Given the description of an element on the screen output the (x, y) to click on. 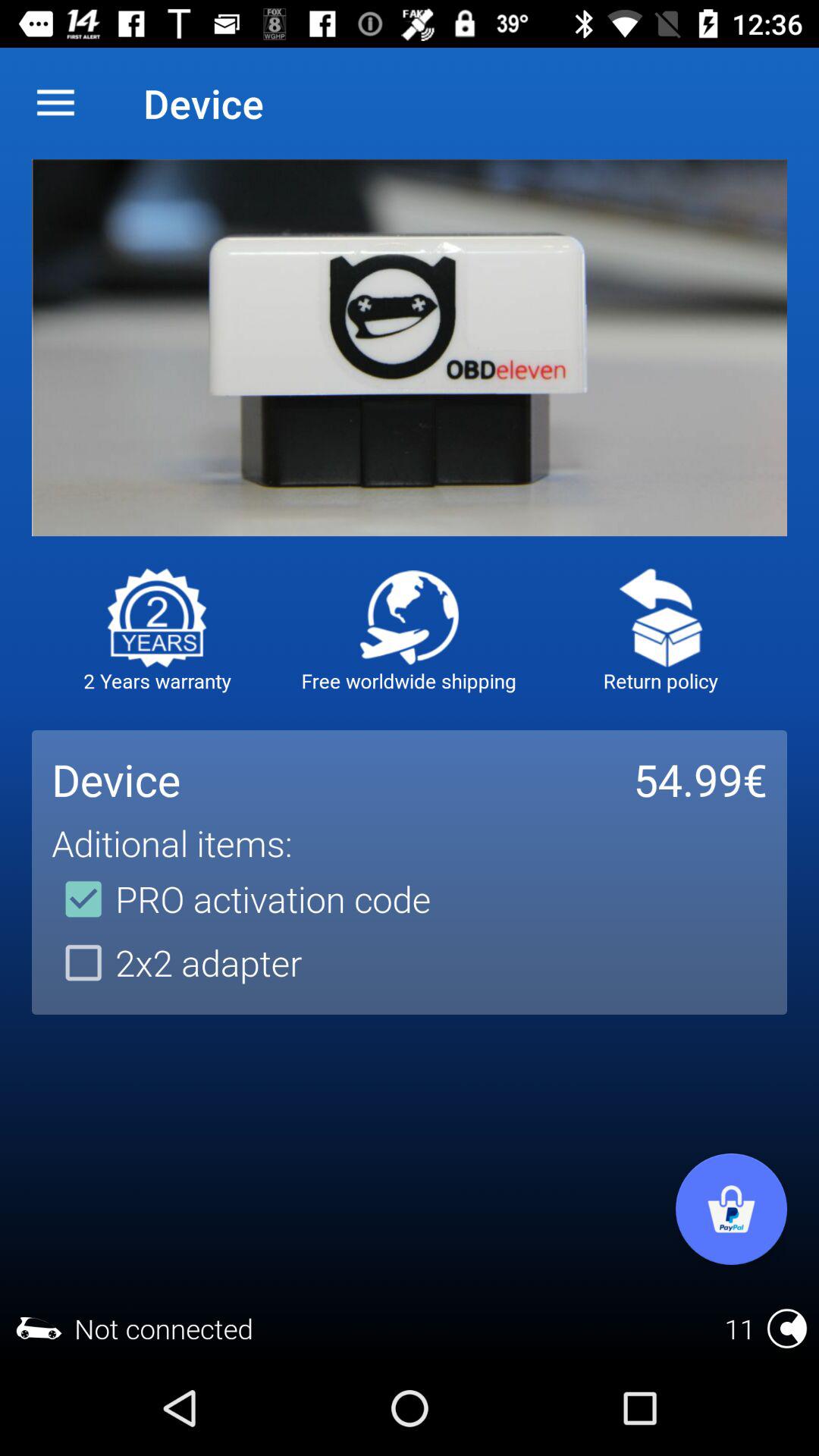
refund (660, 617)
